Given the description of an element on the screen output the (x, y) to click on. 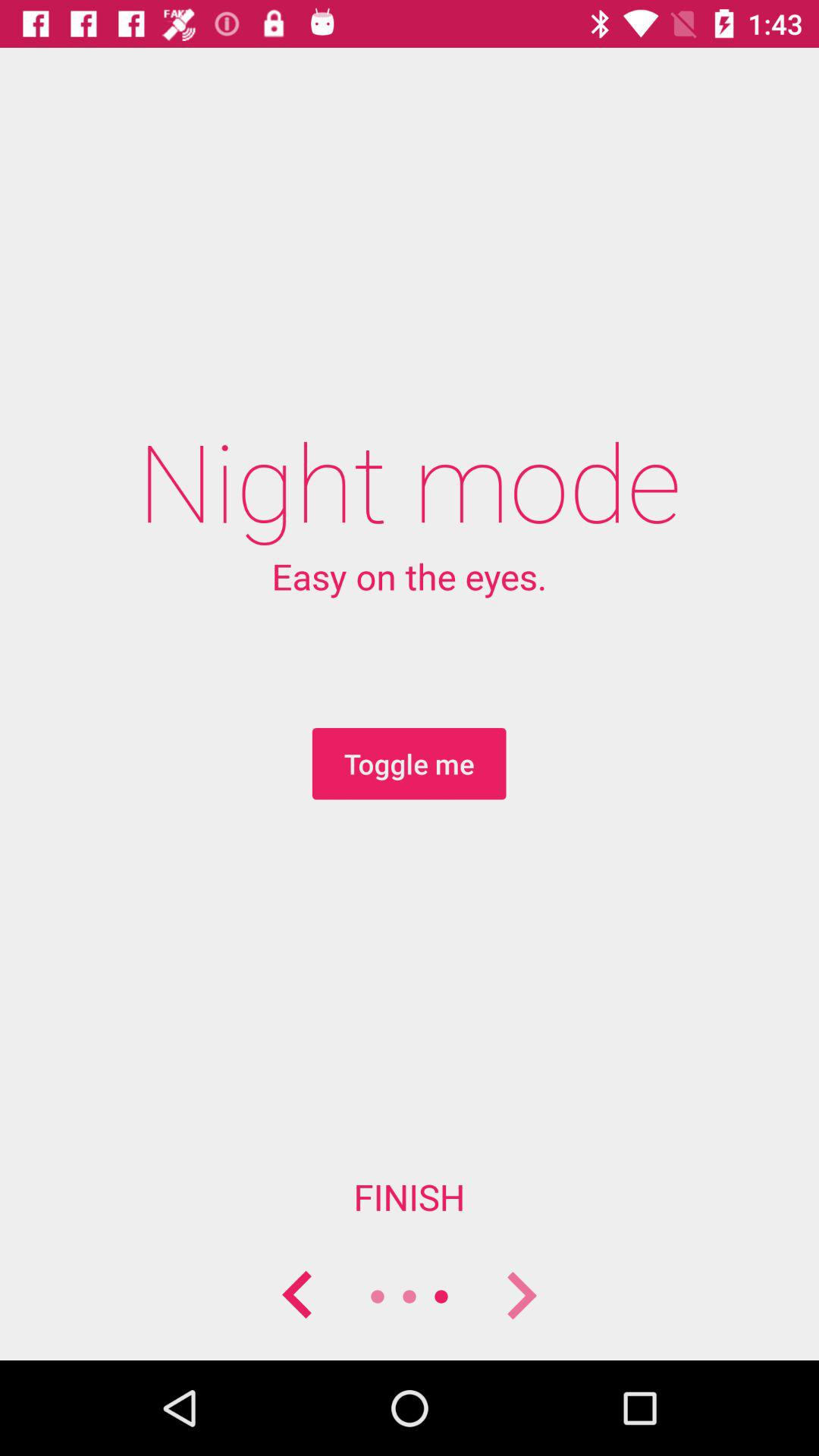
choose icon above the finish item (409, 763)
